Given the description of an element on the screen output the (x, y) to click on. 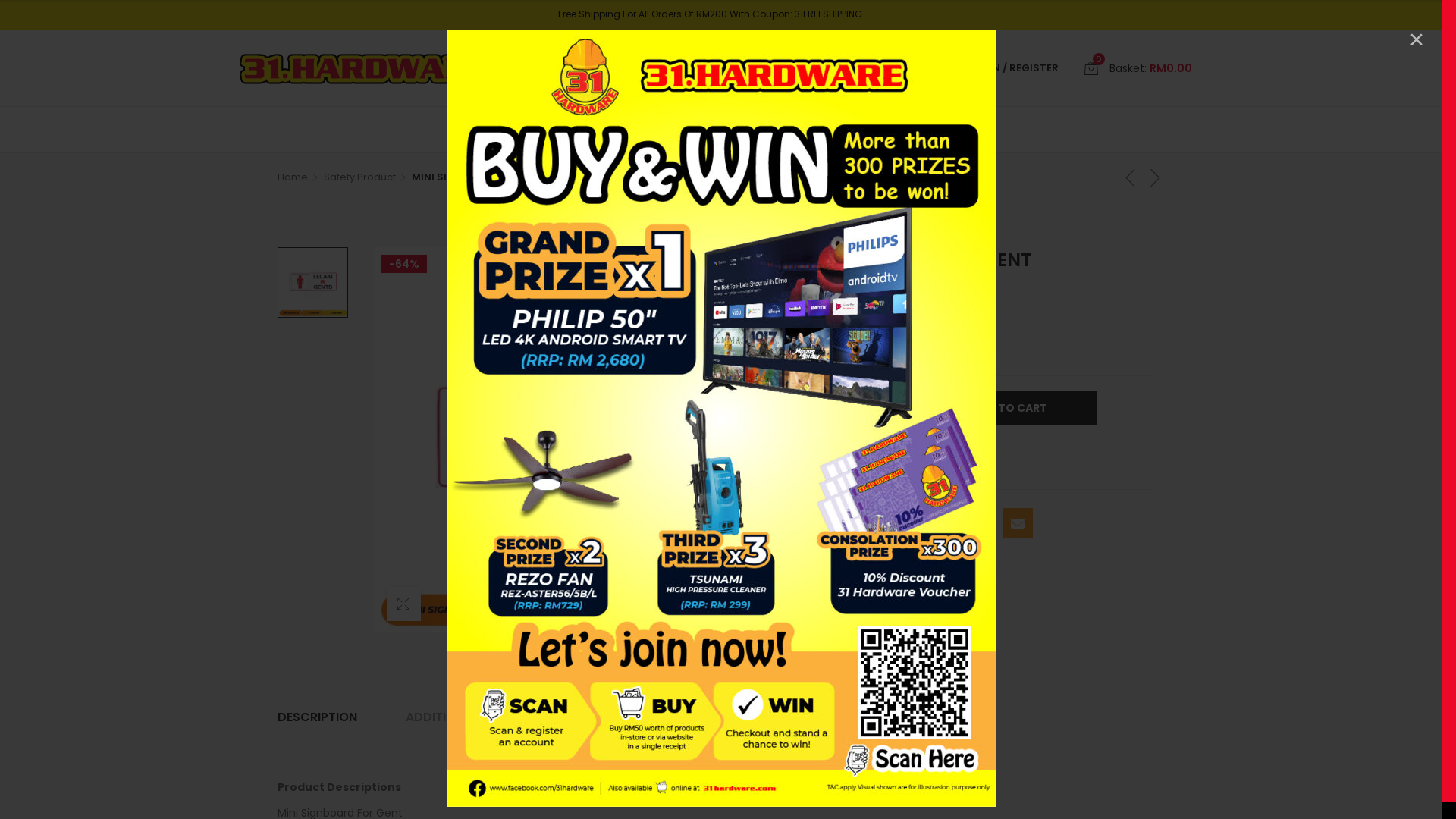
DESCRIPTION Element type: text (317, 717)
BLOG Element type: text (966, 129)
LOGIN / REGISTER Element type: text (1013, 67)
Search Element type: text (918, 68)
PROMOTIONS Element type: text (760, 129)
CATEGORIES Element type: text (569, 129)
PPE000379.jpg Element type: hover (566, 439)
Qty Element type: hover (856, 407)
Previous product Element type: text (1130, 177)
Safety Product Element type: text (365, 177)
REVIEWS (0) Element type: text (650, 717)
Login Element type: text (936, 277)
SAVE MORE AS YOU SPEND Element type: hover (374, 68)
ADD TO CART Element type: text (1009, 407)
ADDITIONAL INFORMATION Element type: text (484, 717)
HOME Element type: text (475, 129)
Facebook Element type: text (871, 523)
0
Basket: RM0.00 Element type: text (1137, 67)
Pinterest Element type: text (981, 523)
Safety Product Element type: text (908, 349)
Login Element type: text (911, 162)
MEMBERSHIPS Element type: text (876, 129)
Google+ Element type: text (944, 523)
Home Element type: text (298, 177)
PPE000379.jpg Element type: hover (312, 281)
Twitter Element type: text (908, 523)
SHOP Element type: text (667, 129)
Next product Element type: text (1155, 177)
Email Element type: text (1017, 523)
